Given the description of an element on the screen output the (x, y) to click on. 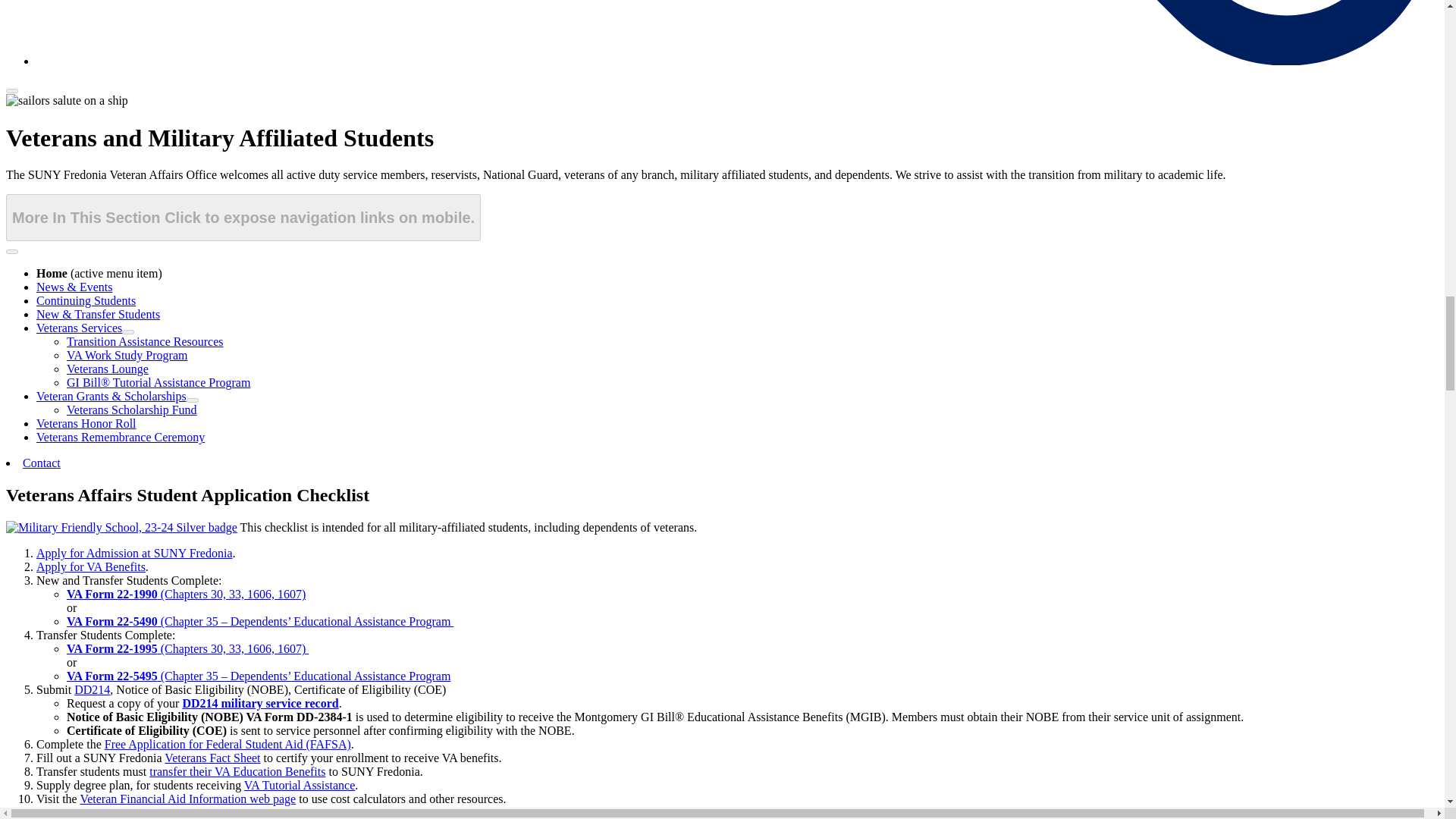
Fredonia Veterans Fact Sheet (212, 757)
Payment Options (160, 812)
Veteran Financial Aid Information (187, 798)
Apply - Old (134, 553)
